Given the description of an element on the screen output the (x, y) to click on. 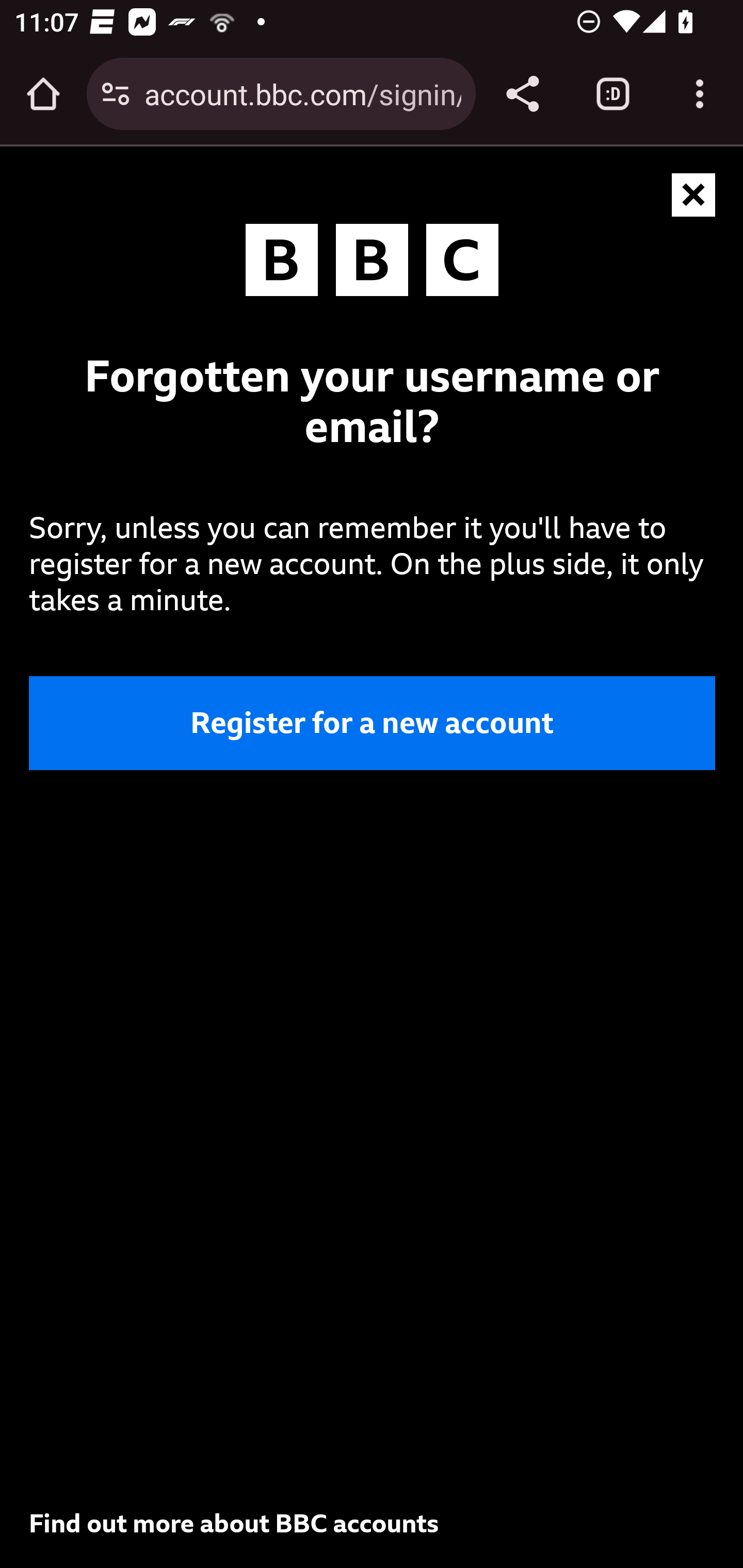
Open the home page (43, 93)
Connection is secure (115, 93)
Share (522, 93)
Switch or close tabs (612, 93)
Customize and control Google Chrome (699, 93)
Close and return to where you originally came from (694, 195)
Register for a new account (372, 722)
Find out more about BBC accounts (234, 1522)
